Given the description of an element on the screen output the (x, y) to click on. 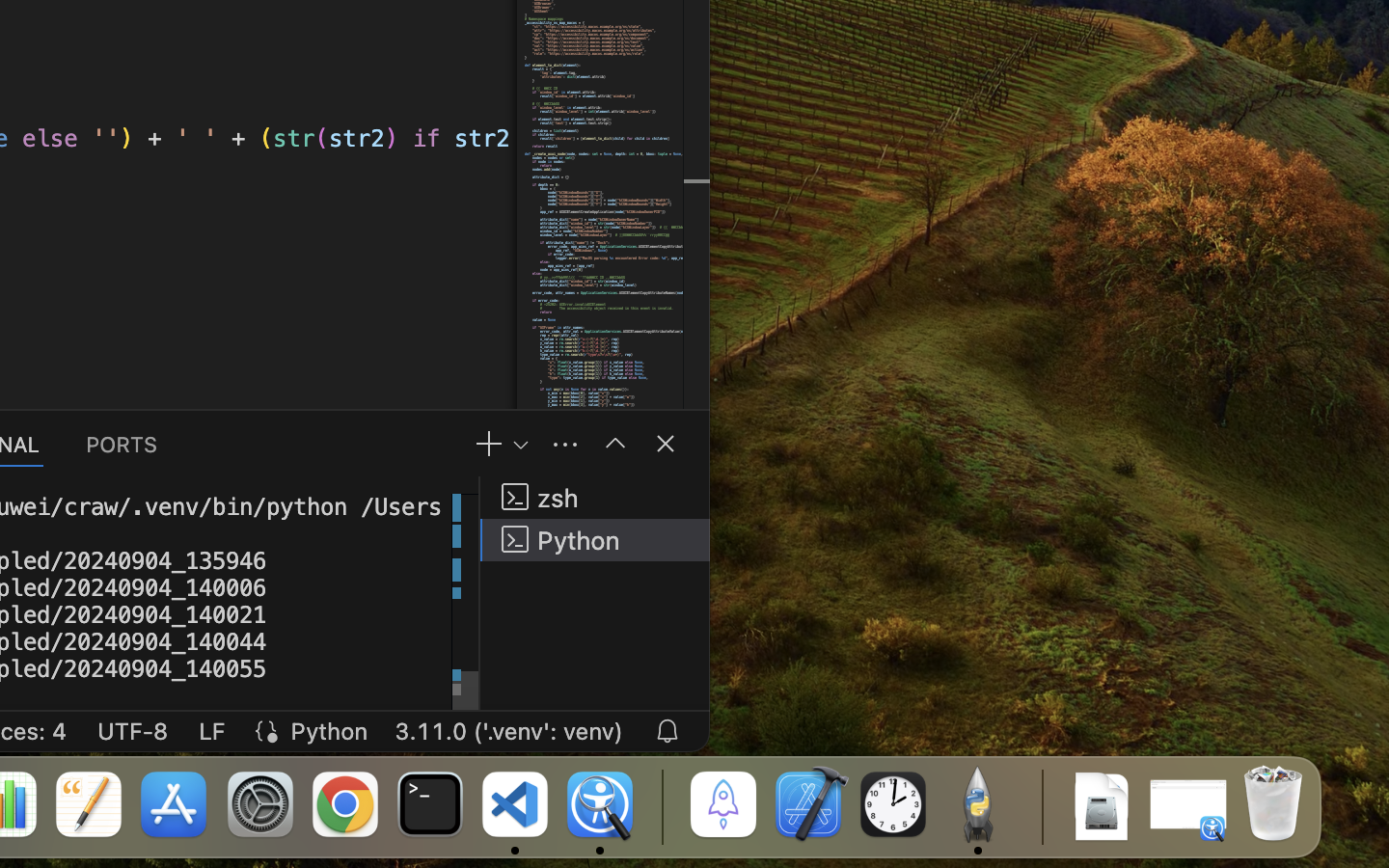
 Element type: AXCheckBox (615, 443)
zsh  Element type: AXGroup (594, 497)
Python  Element type: AXGroup (594, 539)
0 PORTS Element type: AXRadioButton (122, 443)
 Element type: AXButton (665, 443)
